Given the description of an element on the screen output the (x, y) to click on. 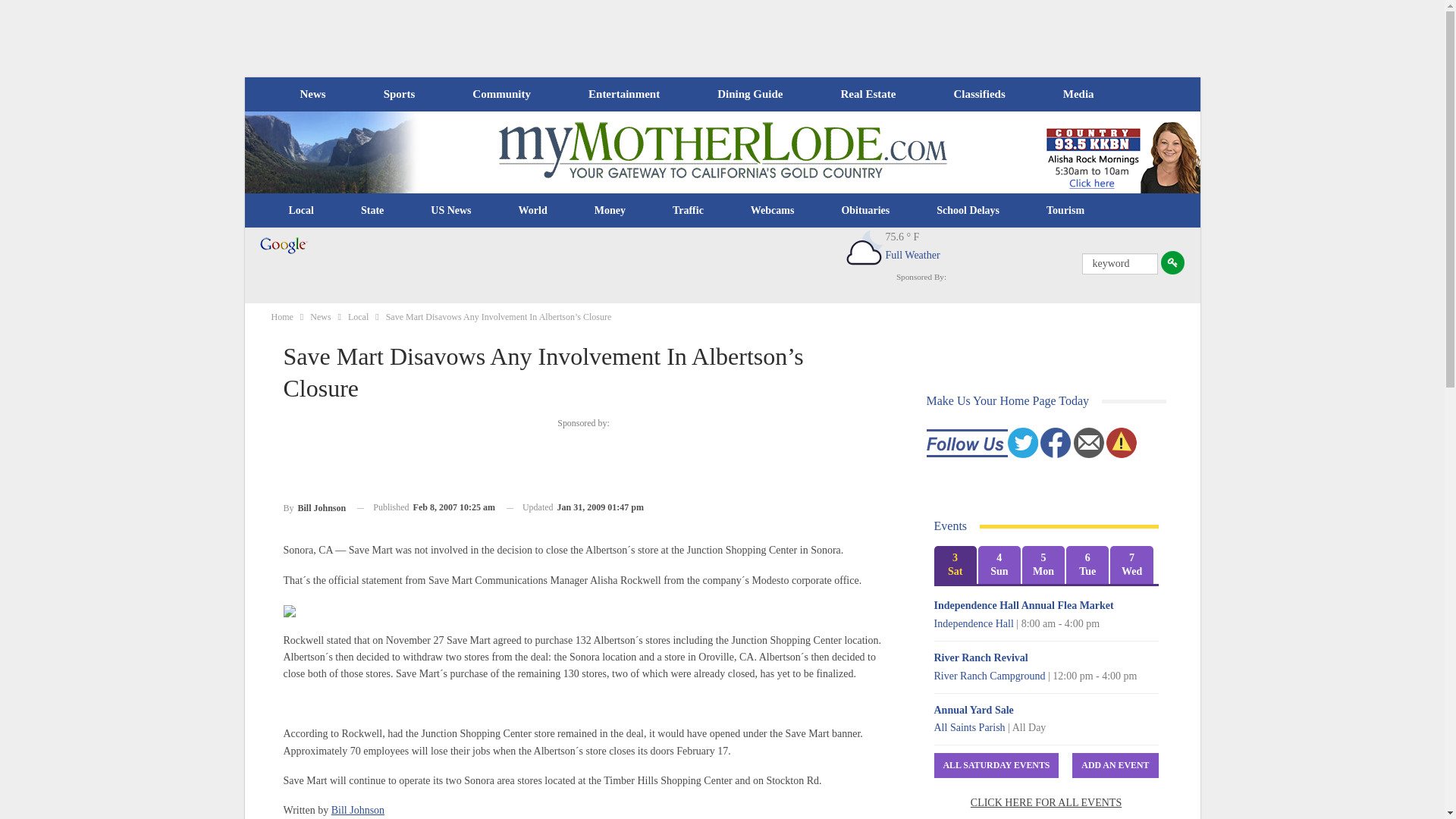
Classifieds (979, 93)
Submit (1172, 262)
Local (300, 210)
Media (1078, 93)
School Delays (967, 210)
Entertainment (624, 93)
Dining Guide (749, 93)
